Given the description of an element on the screen output the (x, y) to click on. 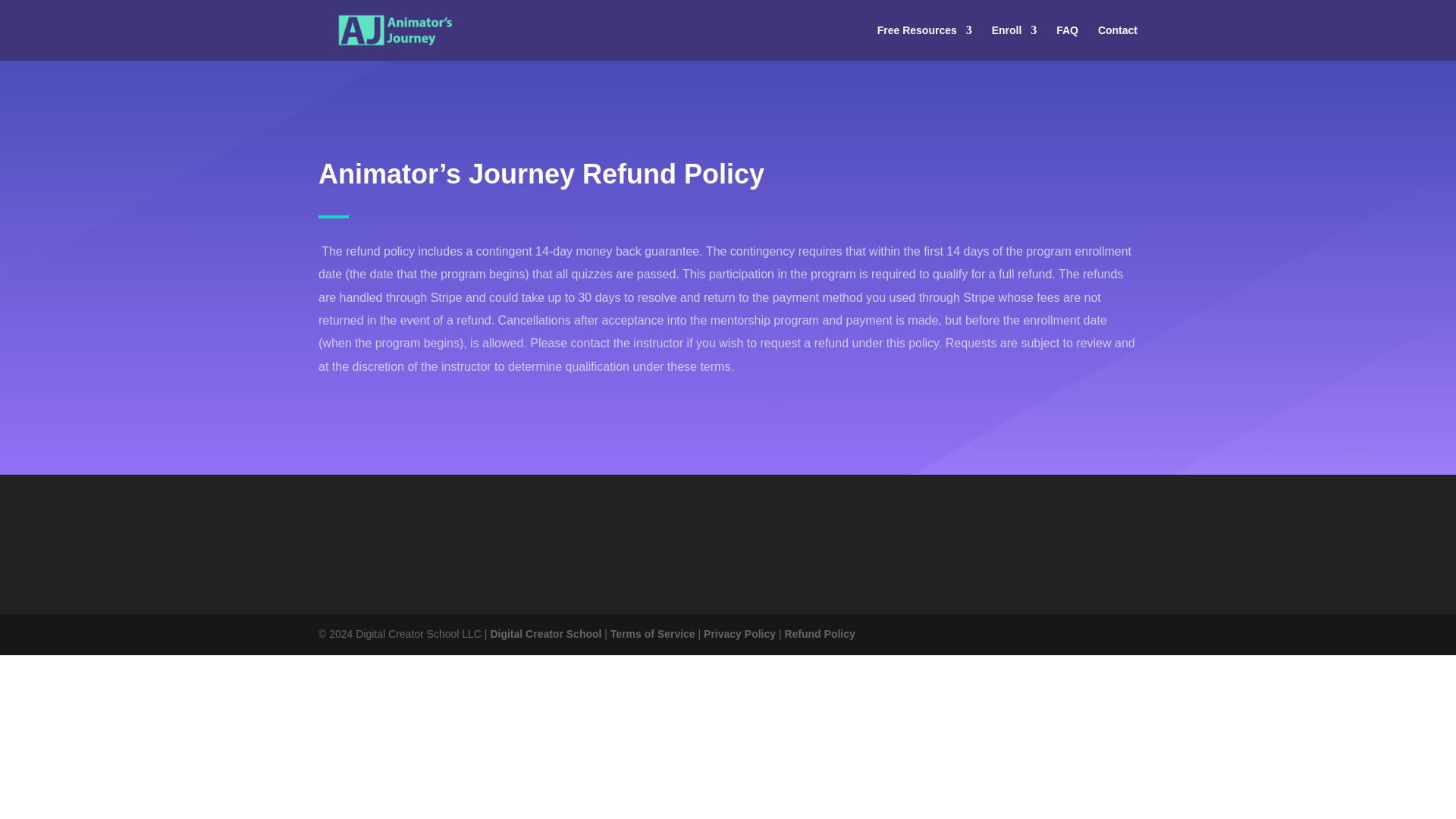
Terms of Service (652, 633)
Contact (1117, 42)
Enroll (1013, 42)
Privacy Policy (739, 633)
Digital Creator School (545, 633)
Free Resources (924, 42)
Refund Policy (819, 633)
